Given the description of an element on the screen output the (x, y) to click on. 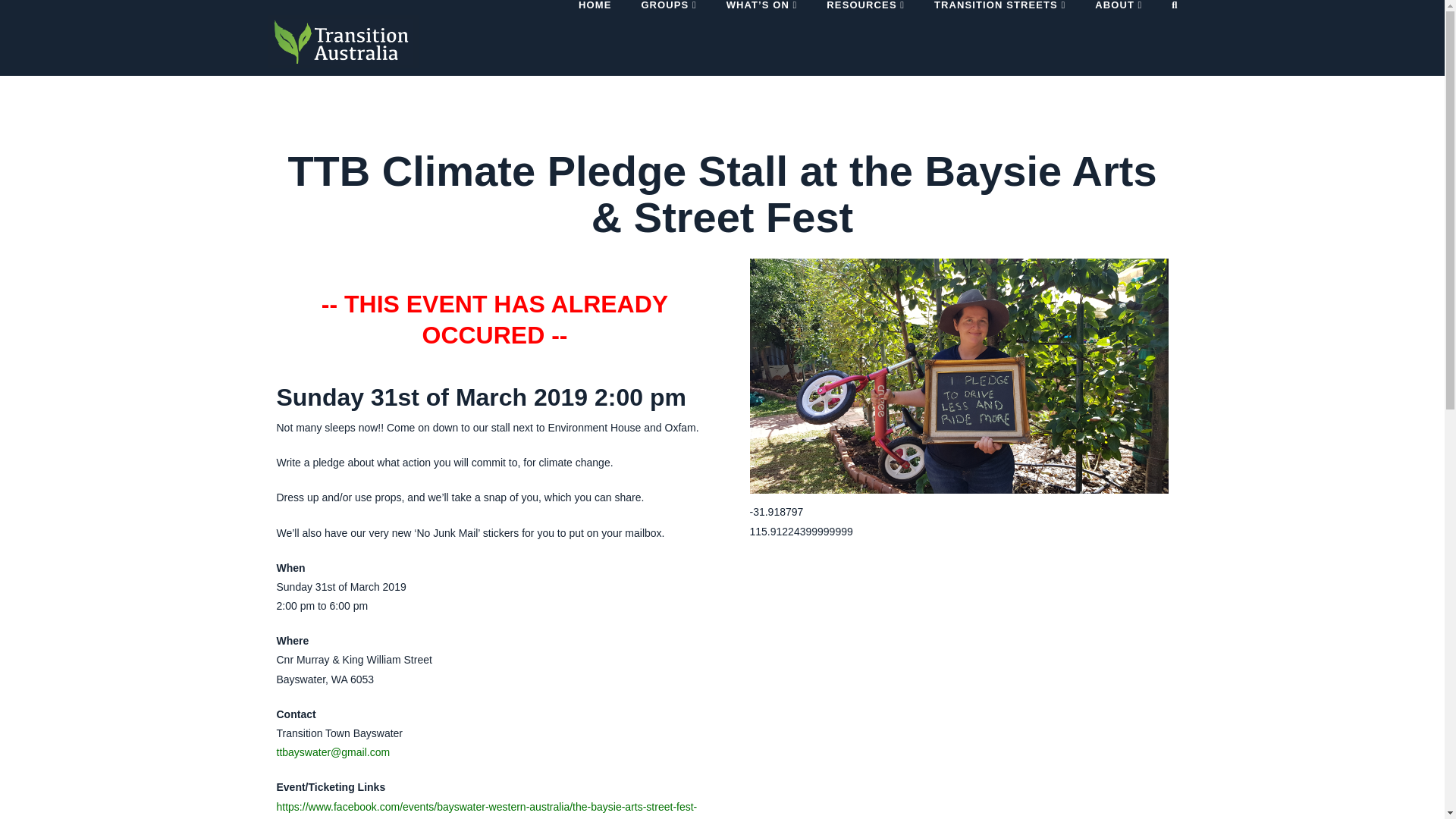
TRANSITION STREETS (999, 38)
HOME (594, 38)
RESOURCES (864, 38)
GROUPS (668, 38)
ABOUT (1118, 38)
